Given the description of an element on the screen output the (x, y) to click on. 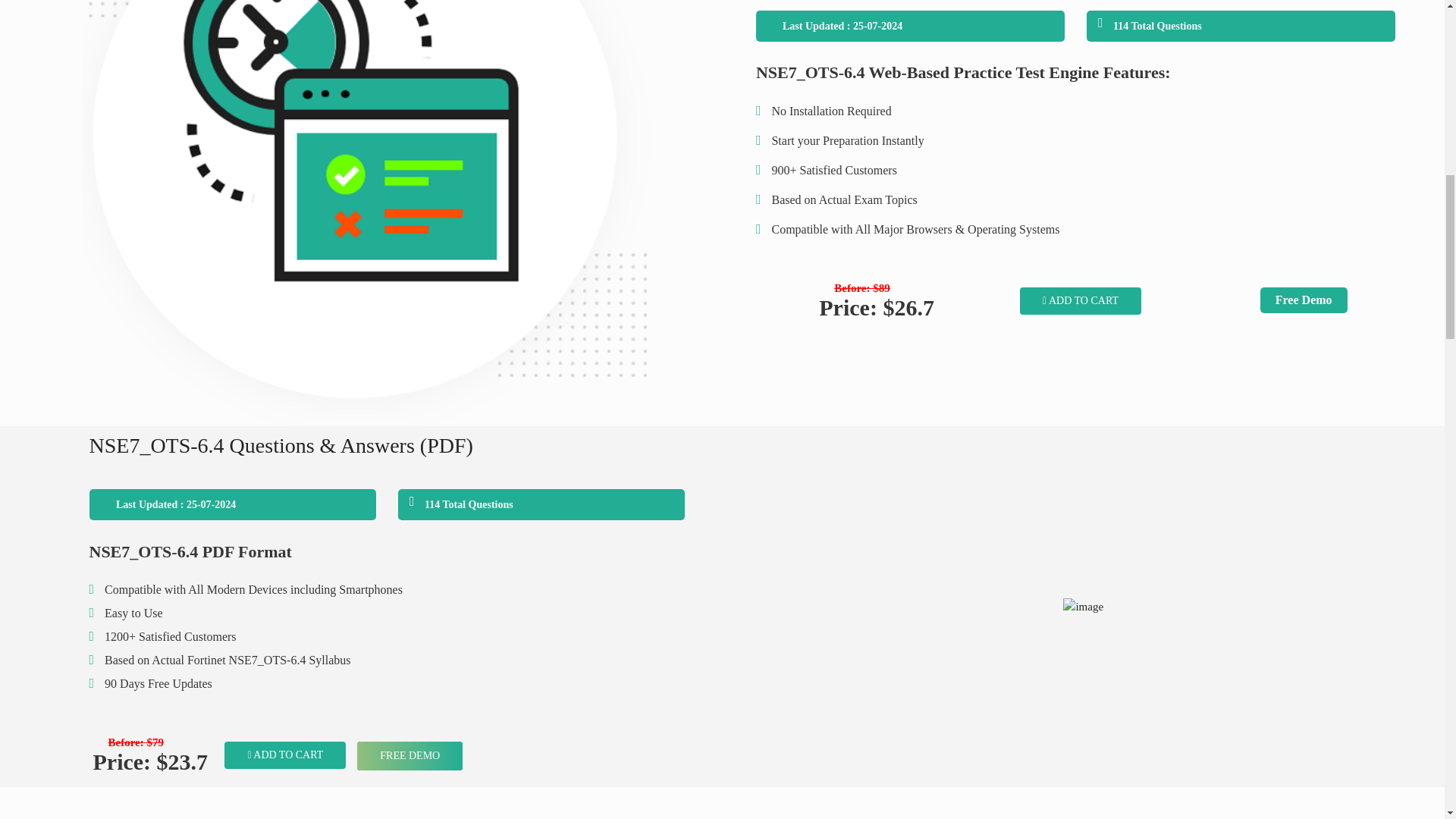
FREE DEMO (409, 756)
ADD TO CART (285, 755)
Free Demo (1304, 299)
ADD TO CART (1080, 300)
